Given the description of an element on the screen output the (x, y) to click on. 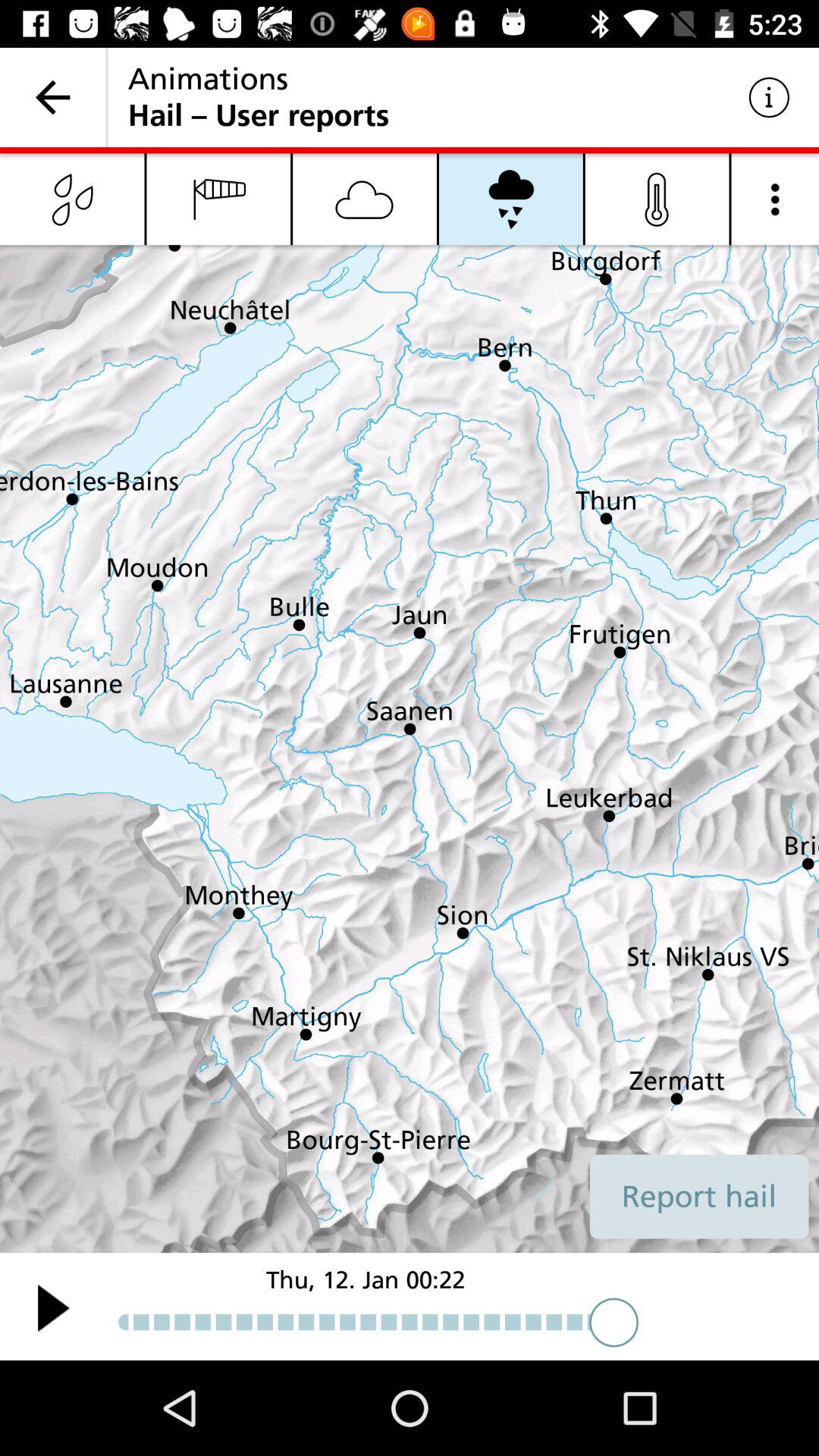
more options (775, 199)
